Given the description of an element on the screen output the (x, y) to click on. 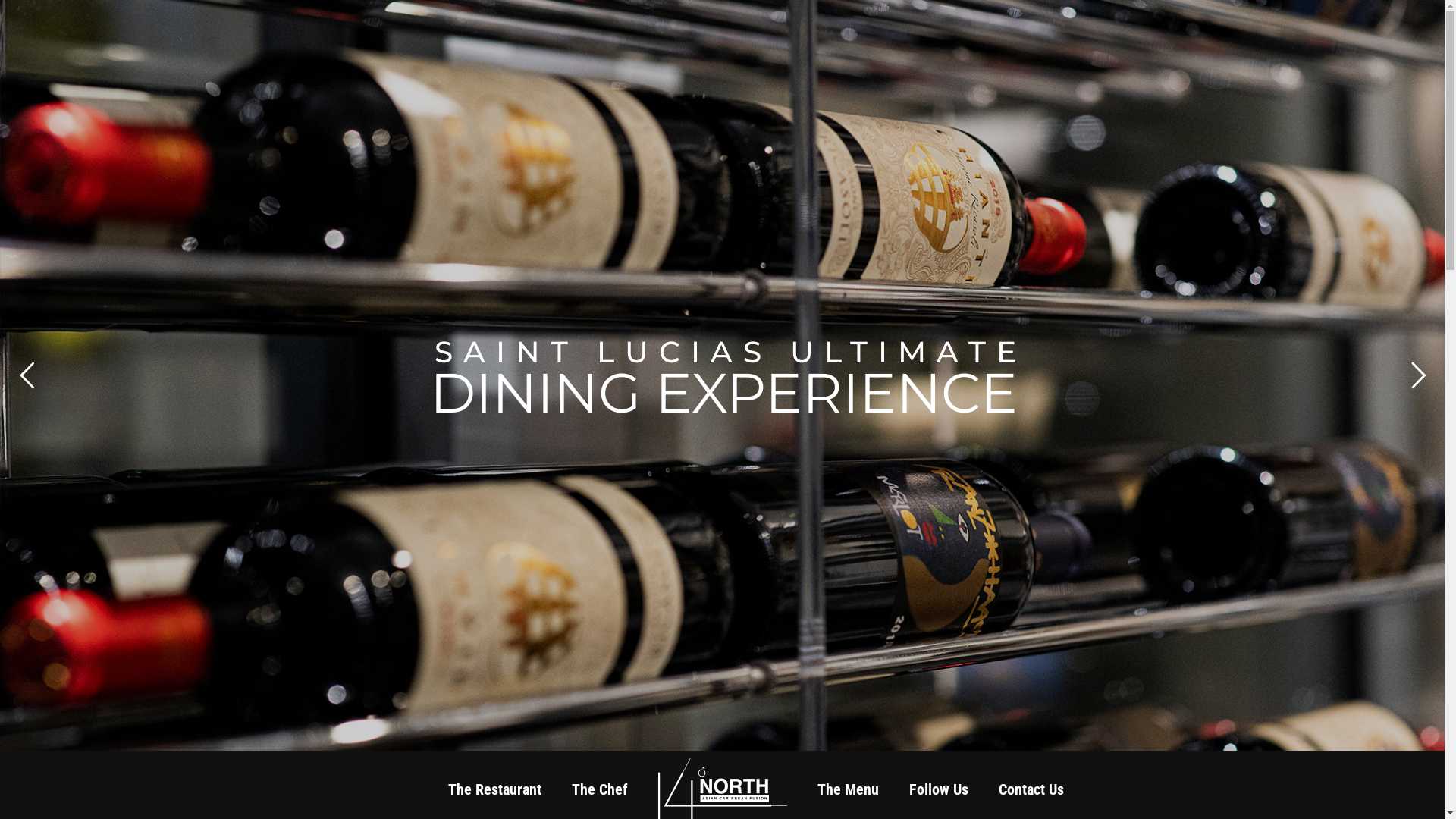
The Chef Element type: text (599, 789)
The Menu Element type: text (847, 789)
Contact Us Element type: text (1030, 789)
The Restaurant Element type: text (493, 789)
Follow Us Element type: text (937, 789)
